Given the description of an element on the screen output the (x, y) to click on. 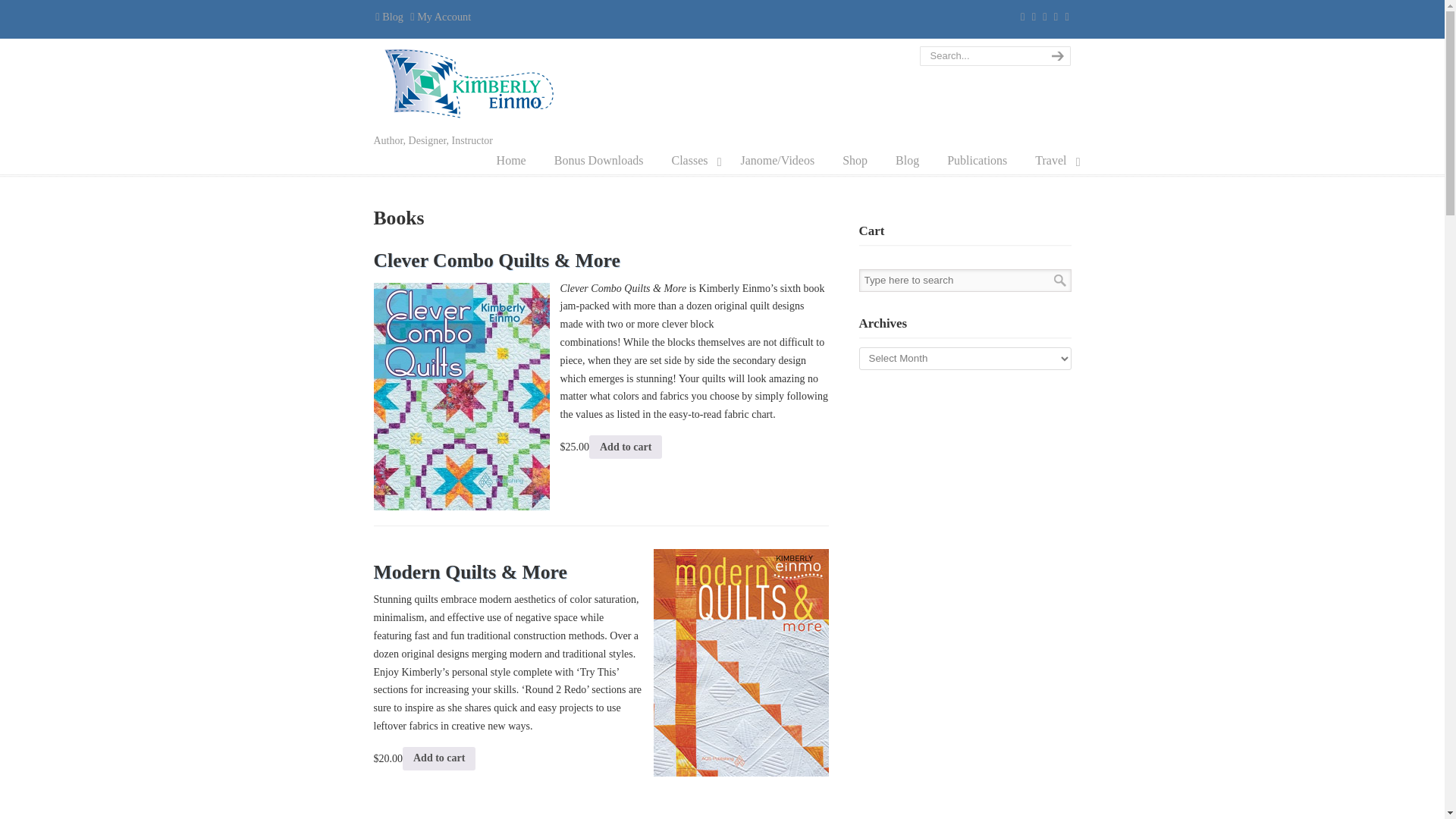
Blog (907, 160)
Kimberly Einmo (471, 83)
Classes (691, 160)
Shop (854, 160)
Blog (388, 16)
Add to cart (625, 446)
Publications (976, 160)
Bonus Downloads (598, 160)
My Account (440, 16)
search (1055, 55)
search (1055, 55)
Travel (1053, 160)
Add to cart (439, 758)
Home (511, 160)
search (1055, 55)
